Given the description of an element on the screen output the (x, y) to click on. 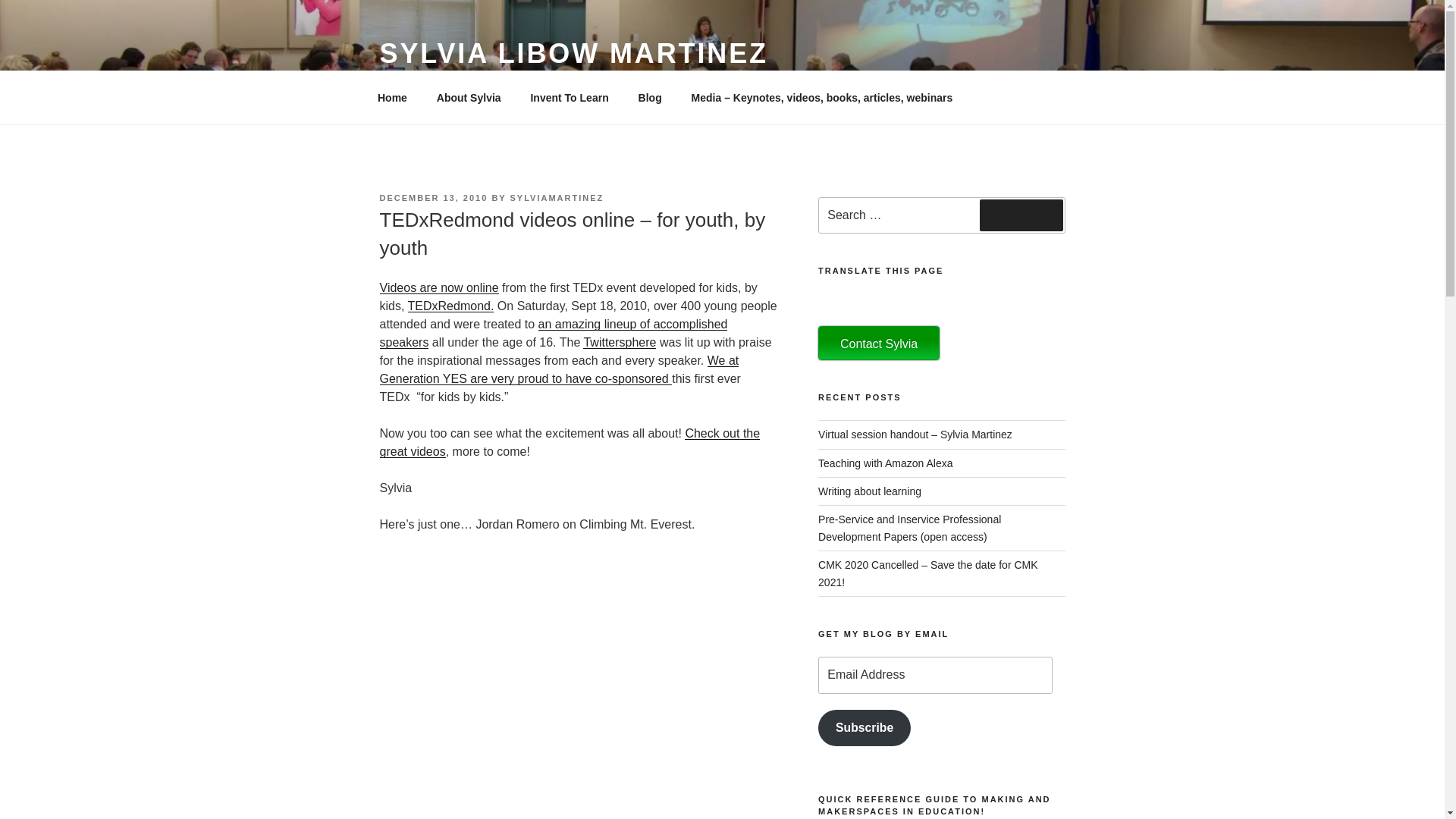
TEDxRedmond site (451, 305)
Invent To Learn (568, 97)
Home (392, 97)
Search (1020, 214)
an amazing lineup of accomplished speakers (552, 332)
SYLVIAMARTINEZ (557, 197)
Link to TEDxRedmond videos (437, 287)
Subscribe (864, 728)
Link to previous post (558, 368)
TEDxRedmond speakers (552, 332)
